Given the description of an element on the screen output the (x, y) to click on. 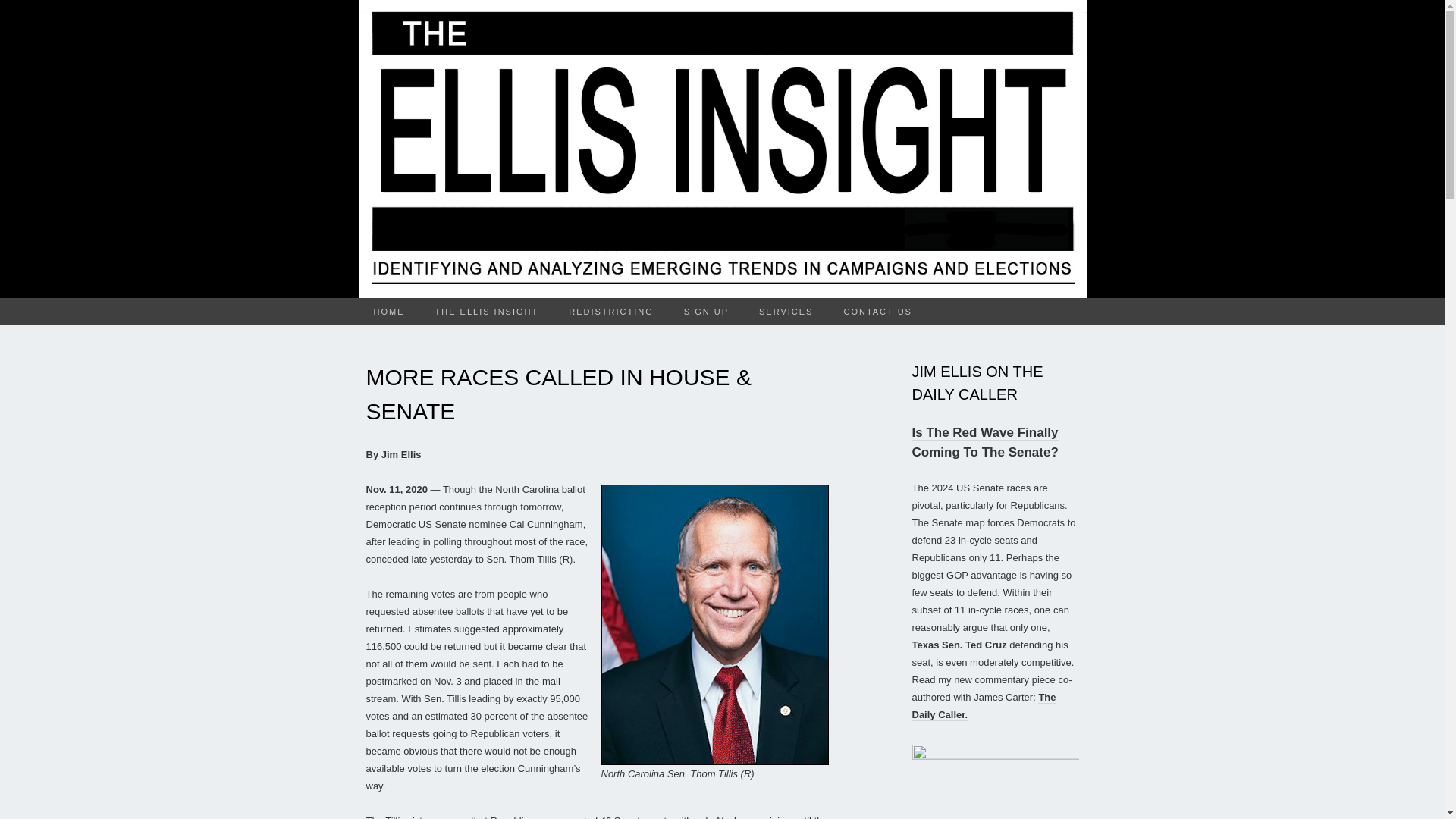
REDISTRICTING (610, 311)
THE ELLIS INSIGHT (487, 311)
SERVICES (786, 311)
SIGN UP (706, 311)
HOME (388, 311)
